Given the description of an element on the screen output the (x, y) to click on. 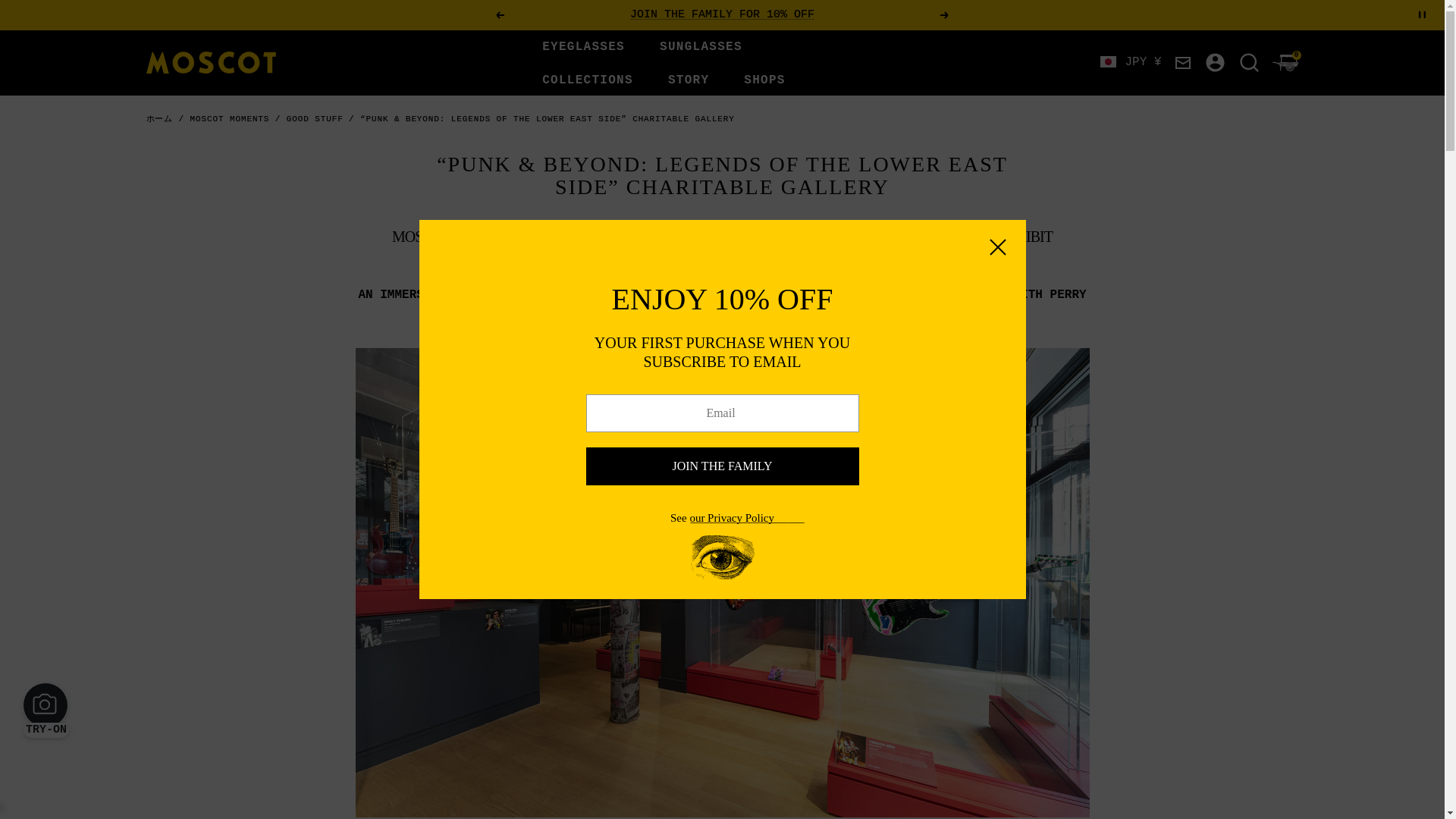
COLLECTIONS (587, 79)
navigation arrow right (944, 14)
pause (1422, 14)
MOSCOT NYC SINCE 1915 (210, 62)
STORY (688, 79)
SHOPS (764, 79)
EYEGLASSES (582, 47)
pause (1422, 14)
navigation arrow left (499, 14)
Pause autoplay (1422, 14)
0 (1285, 62)
SUNGLASSES (700, 47)
